Given the description of an element on the screen output the (x, y) to click on. 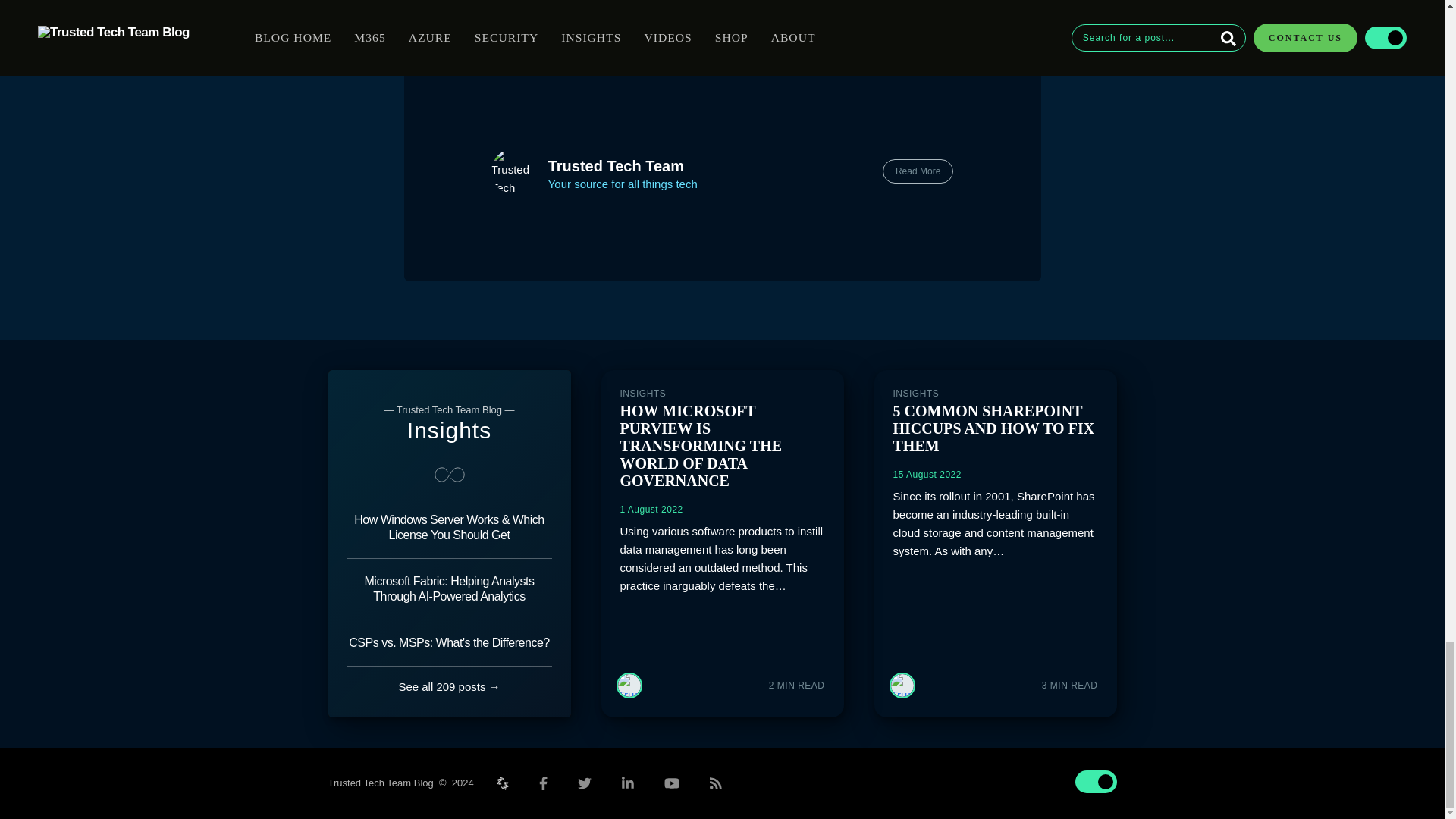
Insights (449, 430)
Trusted Tech Team (616, 166)
Read More (917, 170)
